Given the description of an element on the screen output the (x, y) to click on. 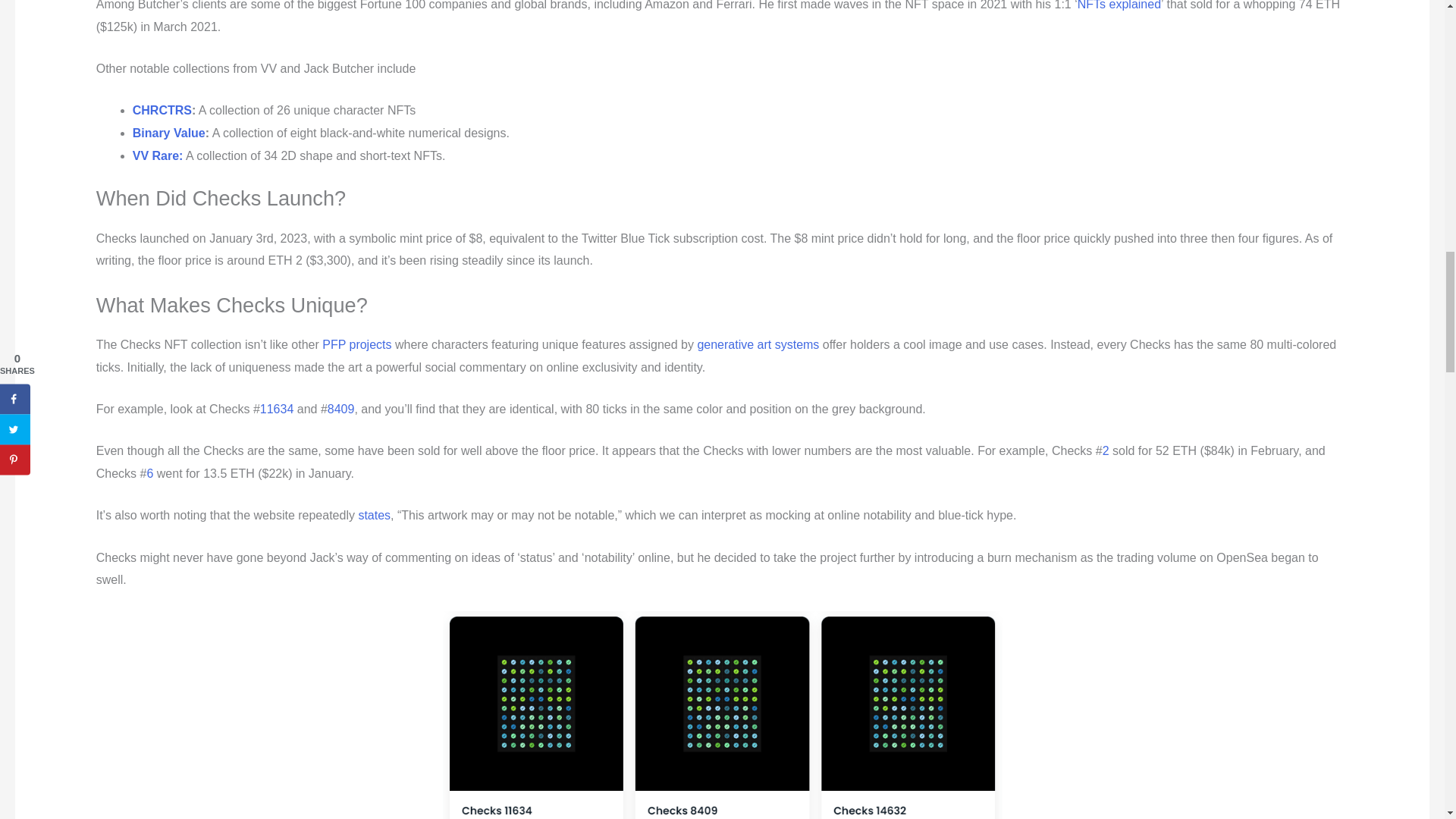
generative art systems (757, 344)
11634 (277, 408)
NFTs explained (1118, 5)
CHRCTRS (162, 110)
Binary Value (168, 132)
PFP projects (356, 344)
2 (1105, 450)
8409 (341, 408)
VV Rare: (157, 155)
